Given the description of an element on the screen output the (x, y) to click on. 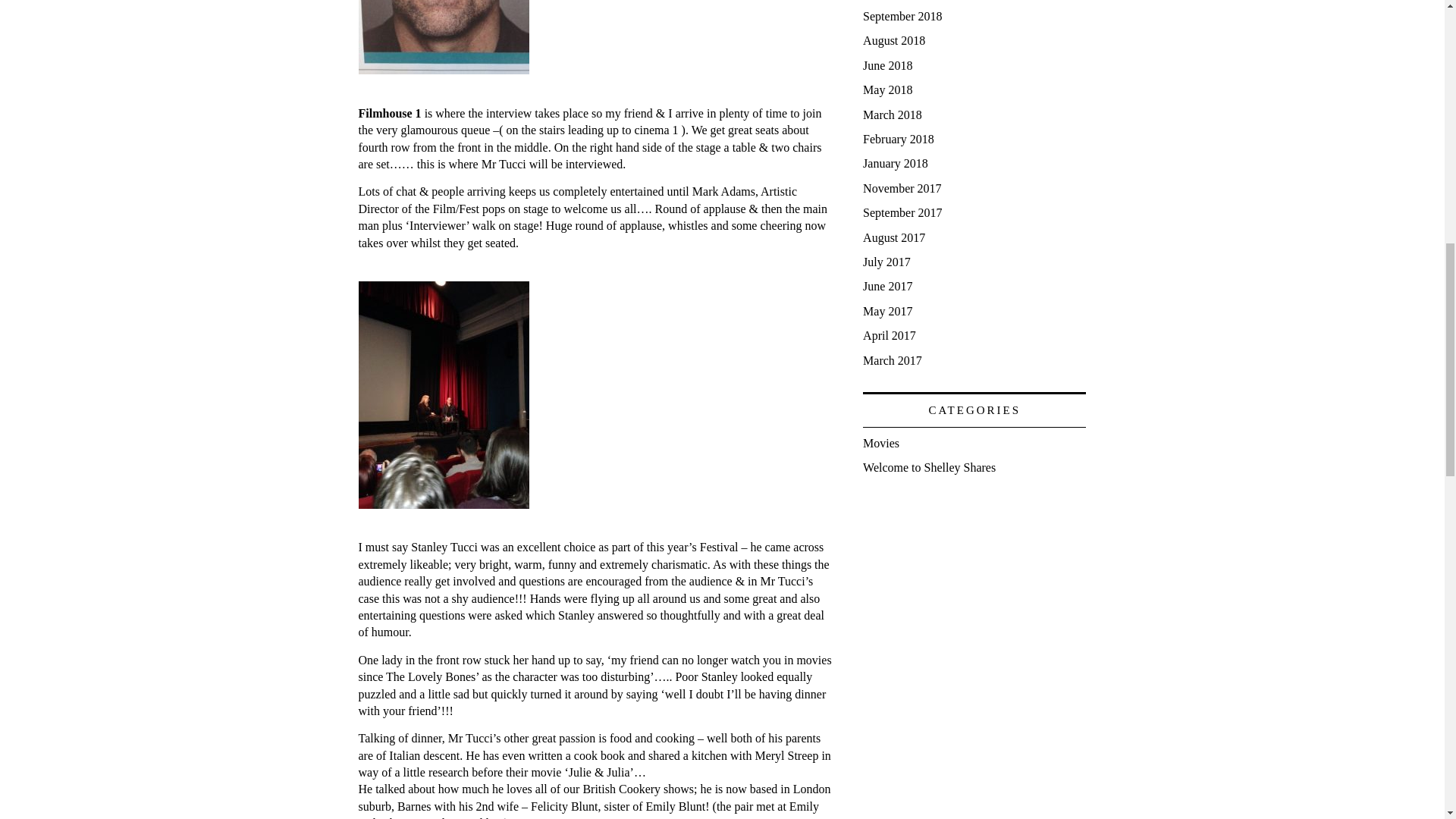
May 2018 (887, 89)
August 2018 (893, 40)
September 2018 (902, 15)
June 2018 (887, 65)
